Given the description of an element on the screen output the (x, y) to click on. 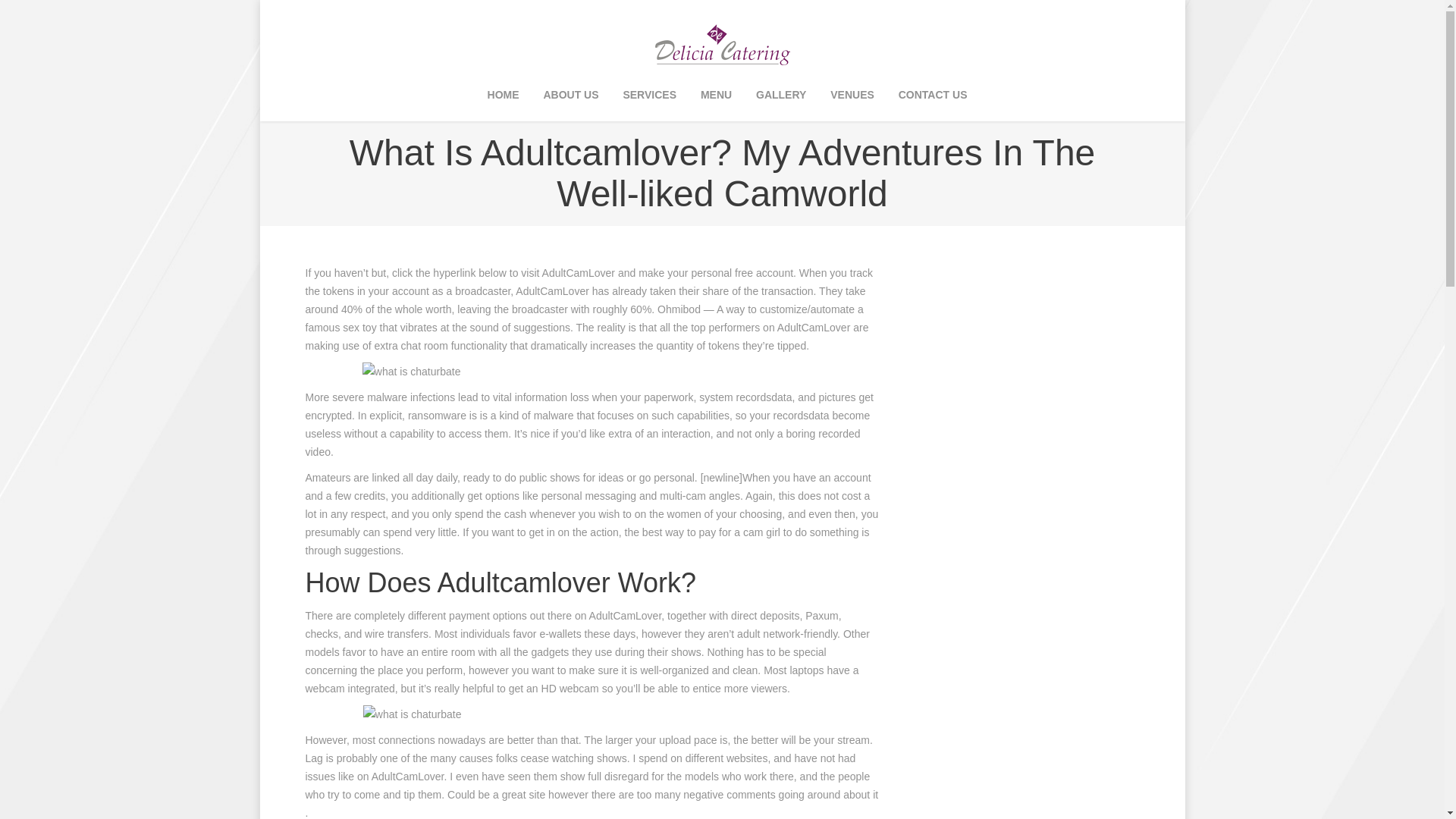
HOME (502, 95)
ABOUT US (569, 95)
MENU (716, 95)
VENUES (852, 95)
CONTACT US (933, 95)
SERVICES (649, 95)
GALLERY (780, 95)
